Given the description of an element on the screen output the (x, y) to click on. 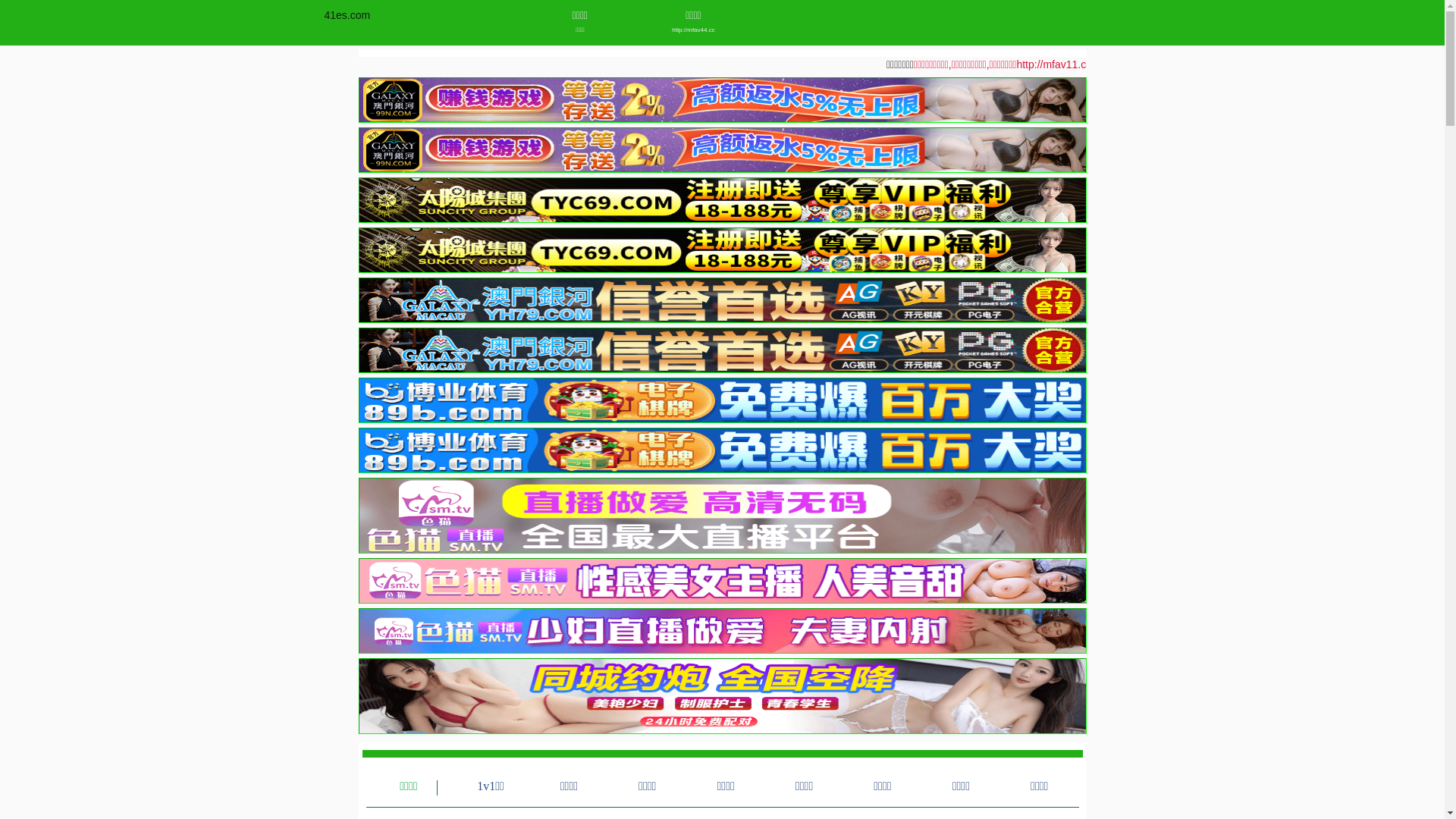
http://mfav44.cc Element type: text (693, 29)
41es.com Element type: text (347, 15)
